Given the description of an element on the screen output the (x, y) to click on. 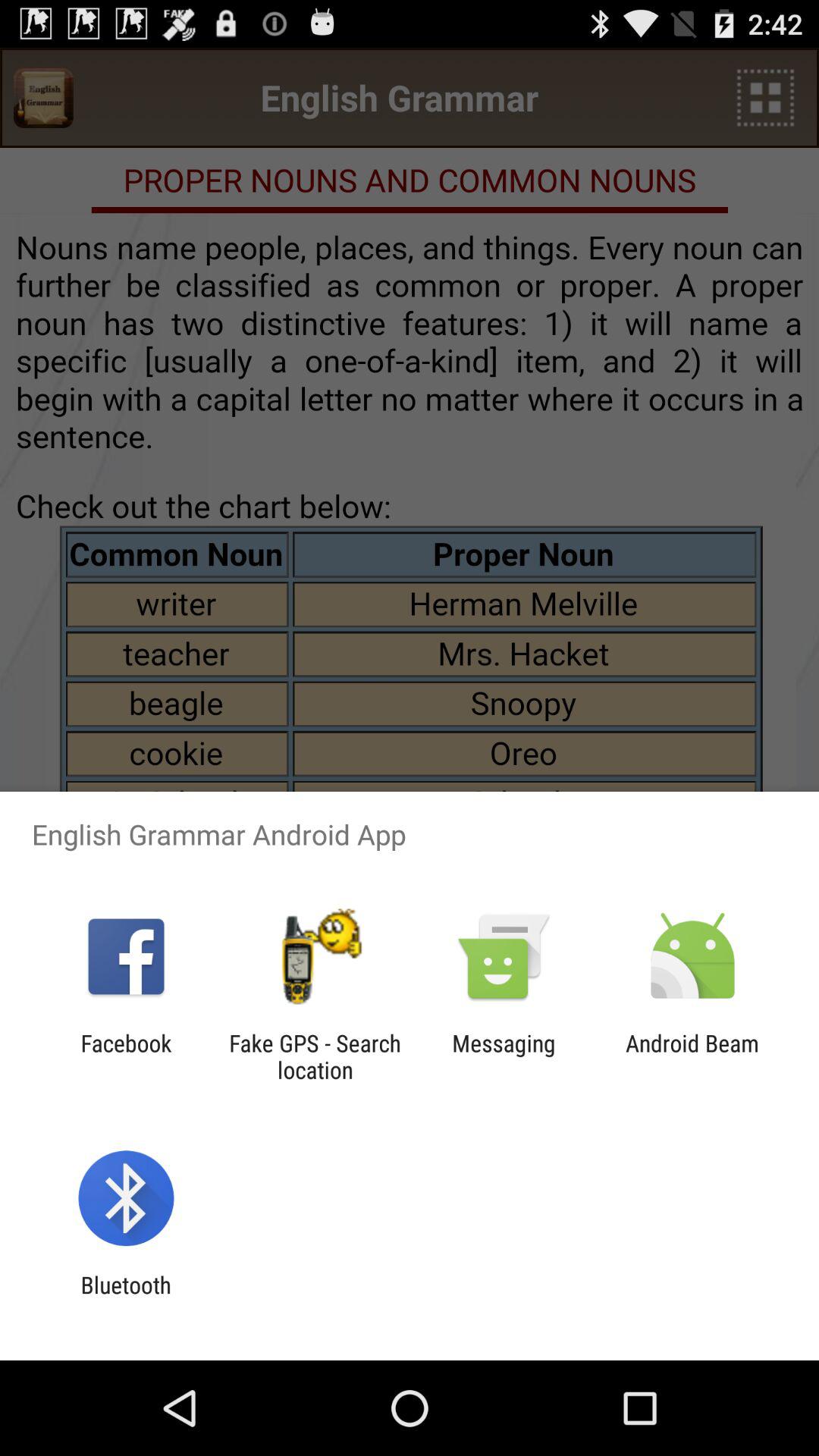
open item next to the facebook item (314, 1056)
